Given the description of an element on the screen output the (x, y) to click on. 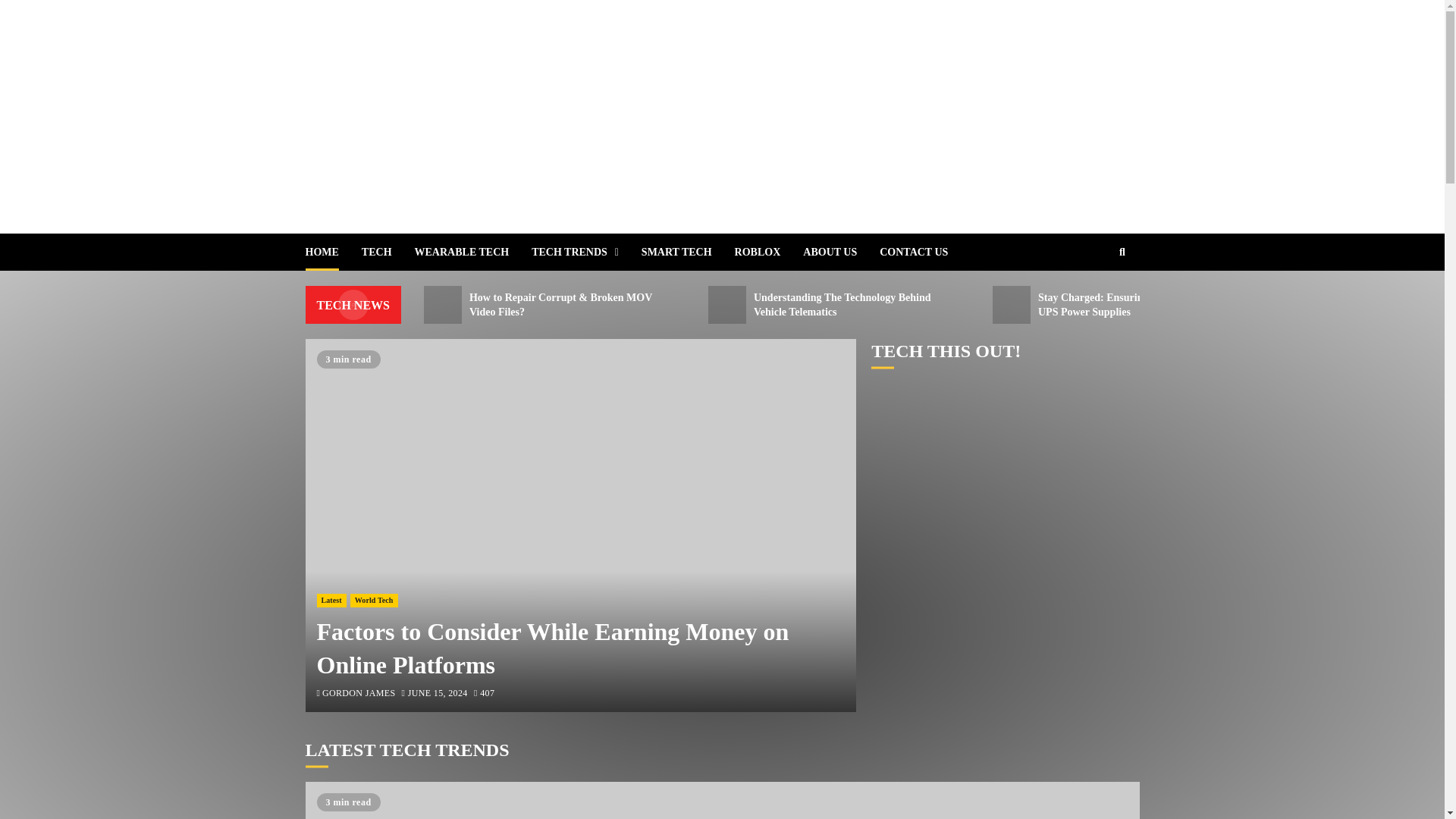
Latest (331, 600)
ABOUT US (841, 252)
WEARABLE TECH (473, 252)
Factors to Consider While Earning Money on Online Platforms (721, 800)
ROBLOX (769, 252)
SMART TECH (688, 252)
World Tech (373, 600)
407 (484, 694)
TECH TRENDS (586, 252)
